Given the description of an element on the screen output the (x, y) to click on. 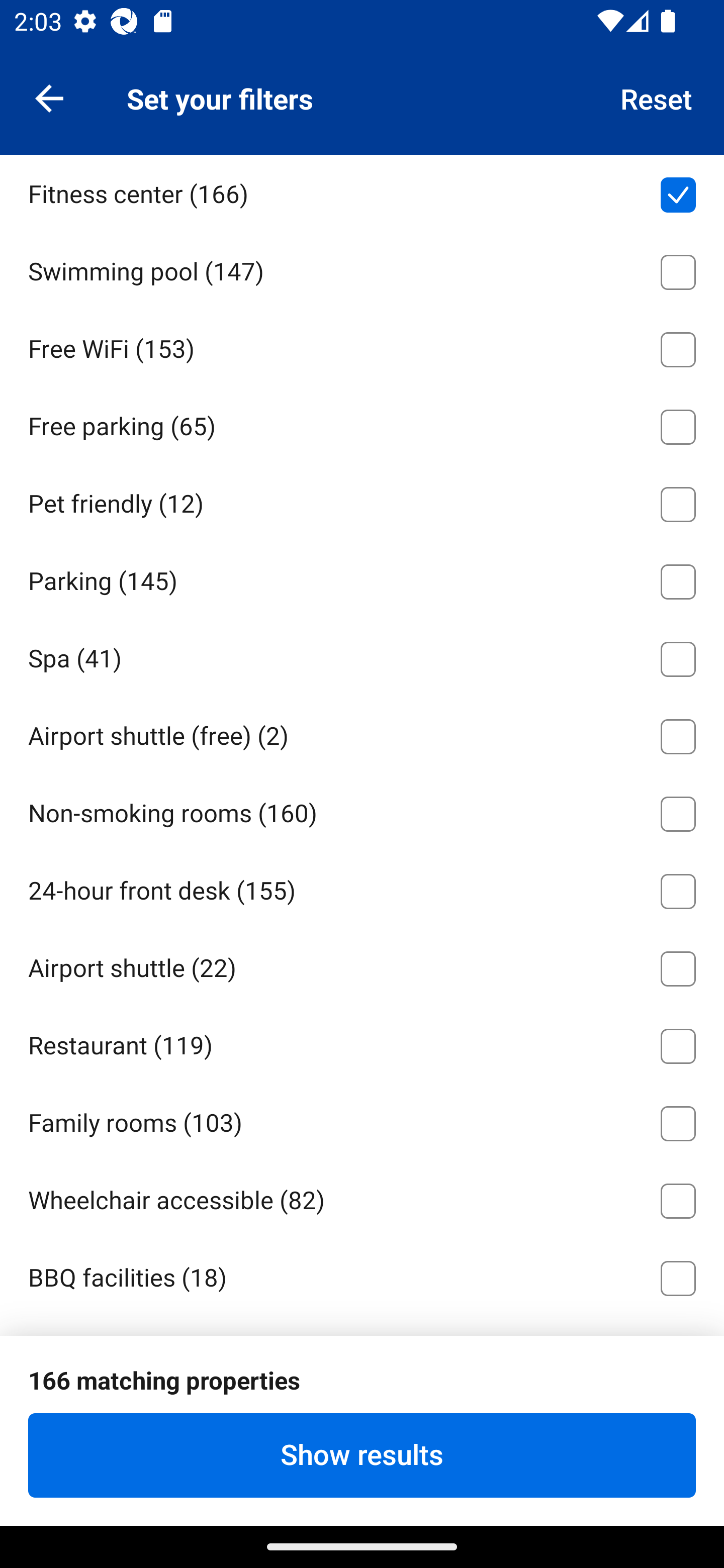
Navigate up (49, 97)
Reset (656, 97)
Fitness center ⁦(166) (361, 192)
Swimming pool ⁦(147) (361, 268)
Free WiFi ⁦(153) (361, 346)
Free parking ⁦(65) (361, 423)
Pet friendly ⁦(12) (361, 500)
Parking ⁦(145) (361, 578)
Spa ⁦(41) (361, 655)
Airport shuttle (free) ⁦(2) (361, 732)
Non-smoking rooms ⁦(160) (361, 810)
24-hour front desk ⁦(155) (361, 887)
Airport shuttle ⁦(22) (361, 964)
Restaurant ⁦(119) (361, 1042)
Family rooms ⁦(103) (361, 1119)
Wheelchair accessible ⁦(82) (361, 1196)
BBQ facilities ⁦(18) (361, 1274)
Show results (361, 1454)
